Given the description of an element on the screen output the (x, y) to click on. 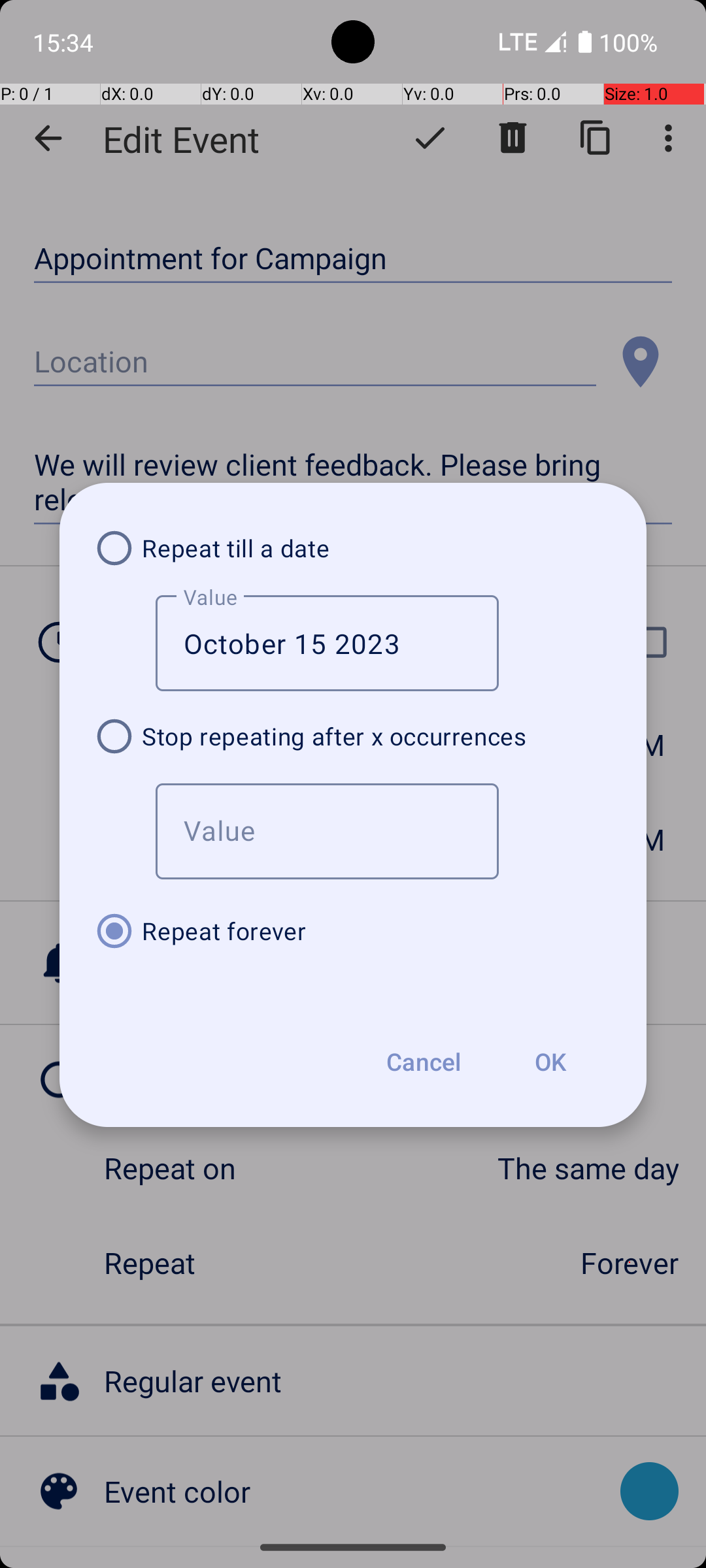
Repeat till a date Element type: android.widget.RadioButton (352, 548)
October 15 2023 Element type: android.widget.EditText (326, 643)
Stop repeating after x occurrences Element type: android.widget.RadioButton (352, 736)
Value Element type: android.widget.EditText (326, 831)
Repeat forever Element type: android.widget.RadioButton (352, 930)
